Given the description of an element on the screen output the (x, y) to click on. 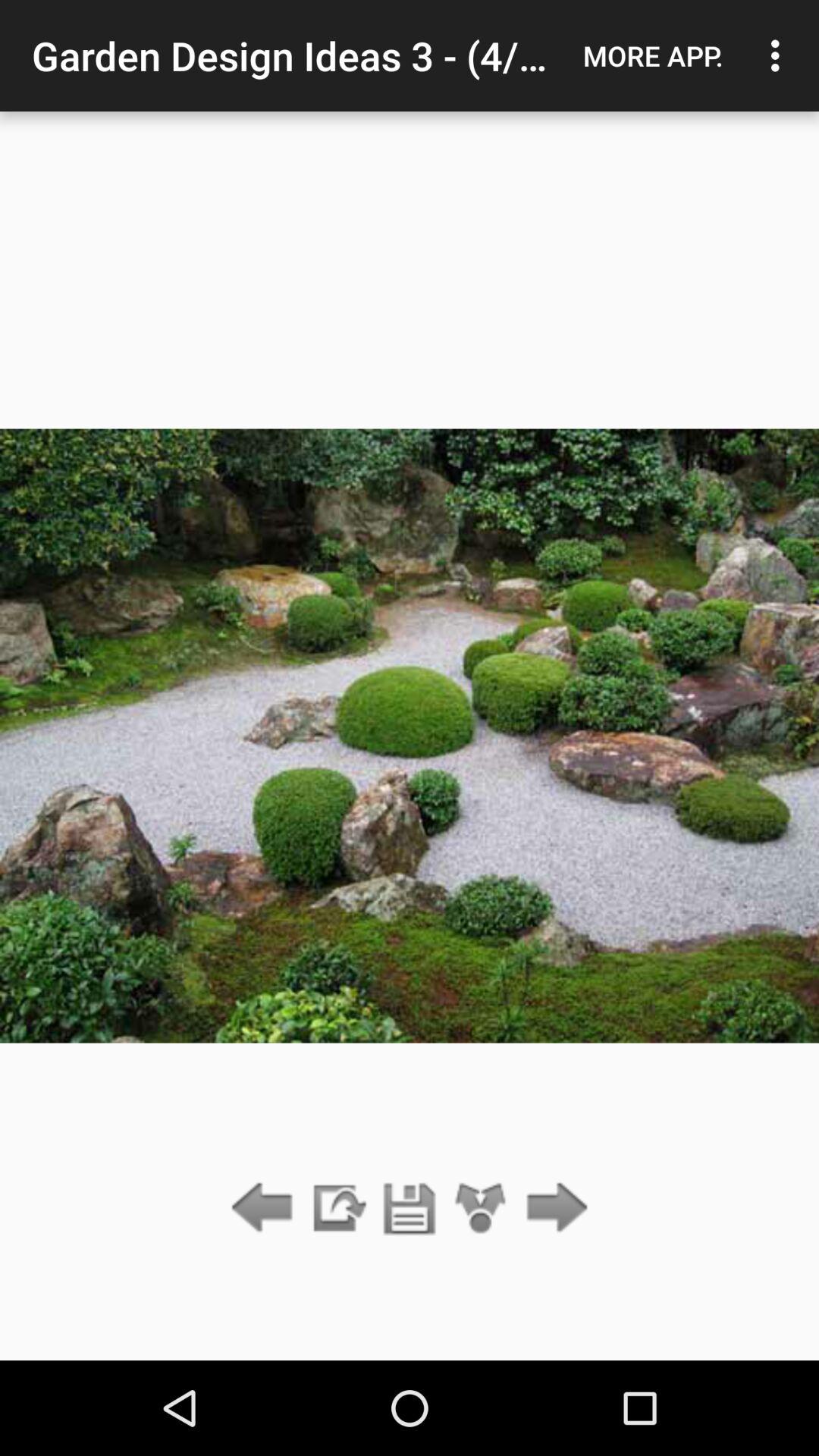
click the app next to garden design ideas icon (653, 55)
